Given the description of an element on the screen output the (x, y) to click on. 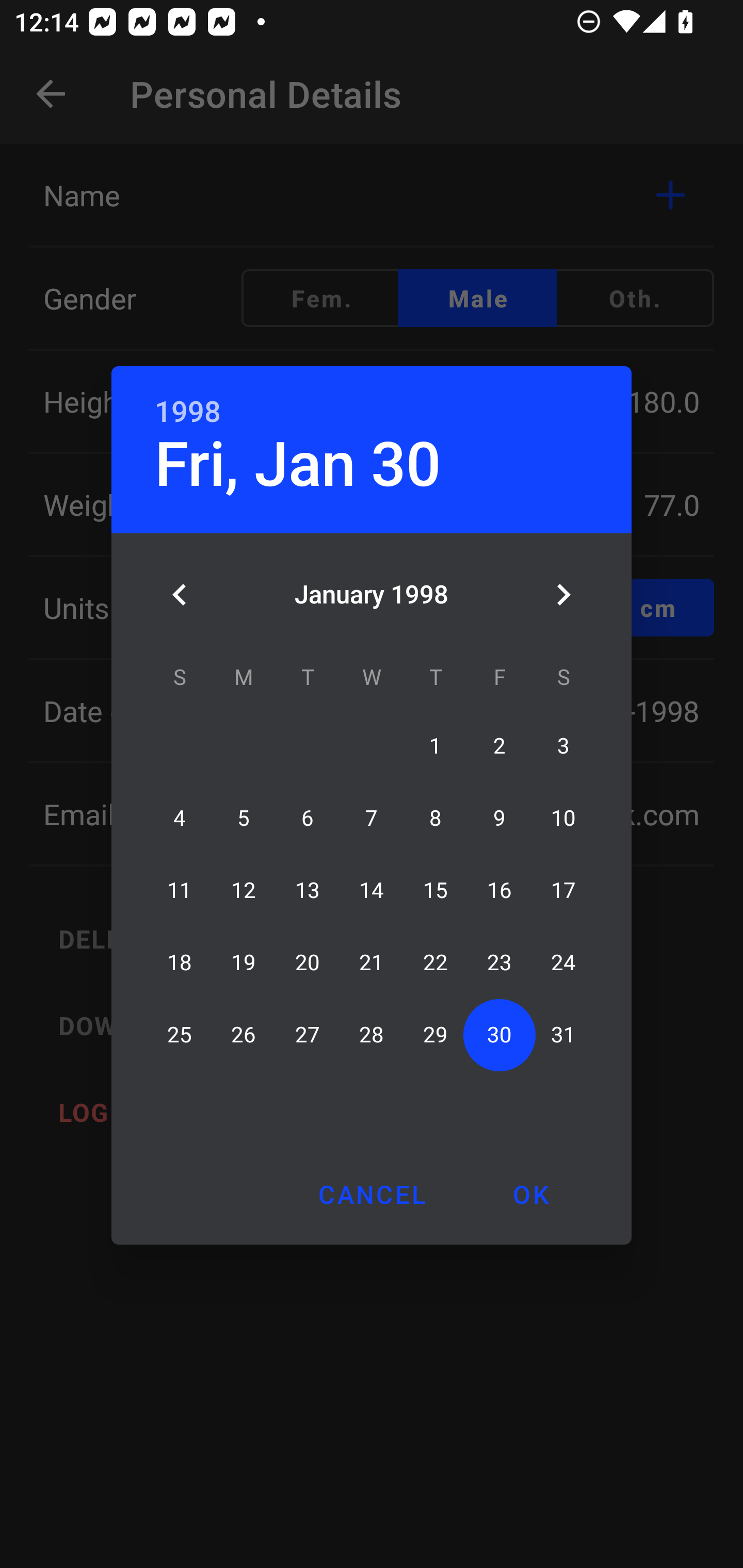
1998 (187, 412)
Fri, Jan 30 (297, 464)
Previous month (178, 594)
Next month (563, 594)
1 01 January 1998 (435, 746)
2 02 January 1998 (499, 746)
3 03 January 1998 (563, 746)
4 04 January 1998 (179, 818)
5 05 January 1998 (243, 818)
6 06 January 1998 (307, 818)
7 07 January 1998 (371, 818)
8 08 January 1998 (435, 818)
9 09 January 1998 (499, 818)
10 10 January 1998 (563, 818)
11 11 January 1998 (179, 890)
12 12 January 1998 (243, 890)
13 13 January 1998 (307, 890)
14 14 January 1998 (371, 890)
15 15 January 1998 (435, 890)
16 16 January 1998 (499, 890)
17 17 January 1998 (563, 890)
18 18 January 1998 (179, 962)
19 19 January 1998 (243, 962)
20 20 January 1998 (307, 962)
21 21 January 1998 (371, 962)
22 22 January 1998 (435, 962)
23 23 January 1998 (499, 962)
24 24 January 1998 (563, 962)
25 25 January 1998 (179, 1034)
26 26 January 1998 (243, 1034)
27 27 January 1998 (307, 1034)
28 28 January 1998 (371, 1034)
29 29 January 1998 (435, 1034)
30 30 January 1998 (499, 1034)
31 31 January 1998 (563, 1034)
CANCEL (371, 1193)
OK (530, 1193)
